Given the description of an element on the screen output the (x, y) to click on. 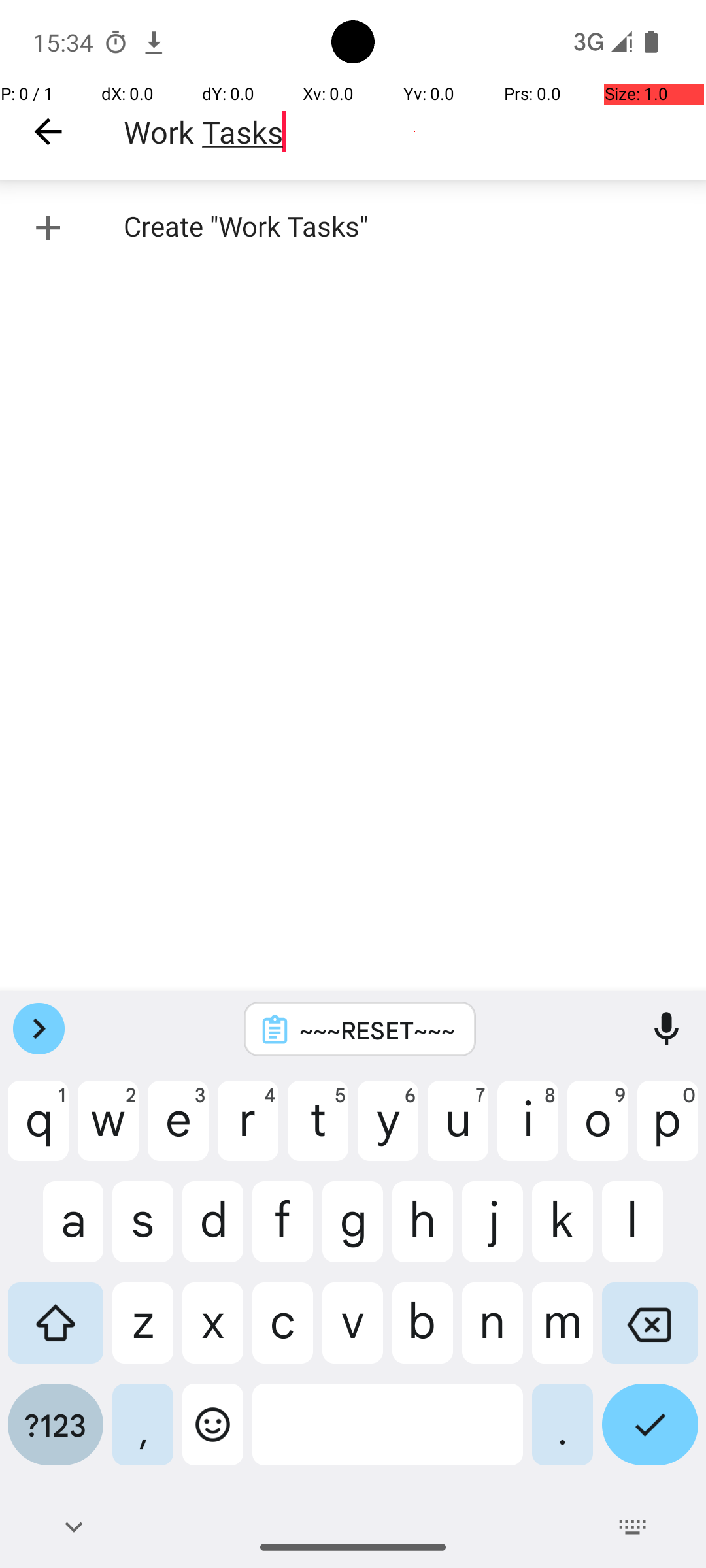
Work Tasks Element type: android.widget.EditText (414, 131)
Create "Work Tasks" Element type: android.widget.TextView (353, 227)
